Given the description of an element on the screen output the (x, y) to click on. 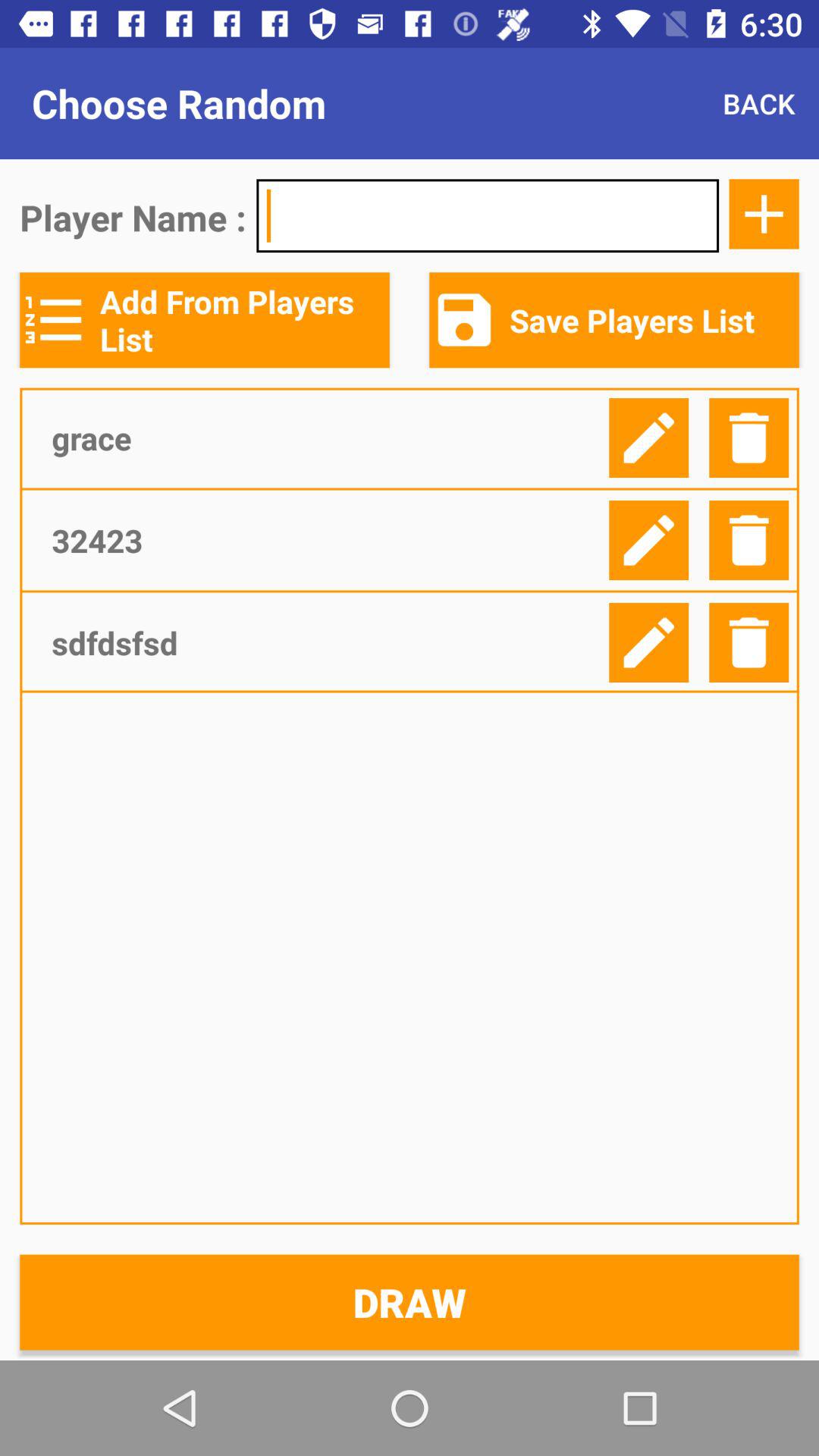
select the delete button which is right to the first edit icon (748, 437)
click on save icon (464, 320)
move to right of third row (648, 642)
